Given the description of an element on the screen output the (x, y) to click on. 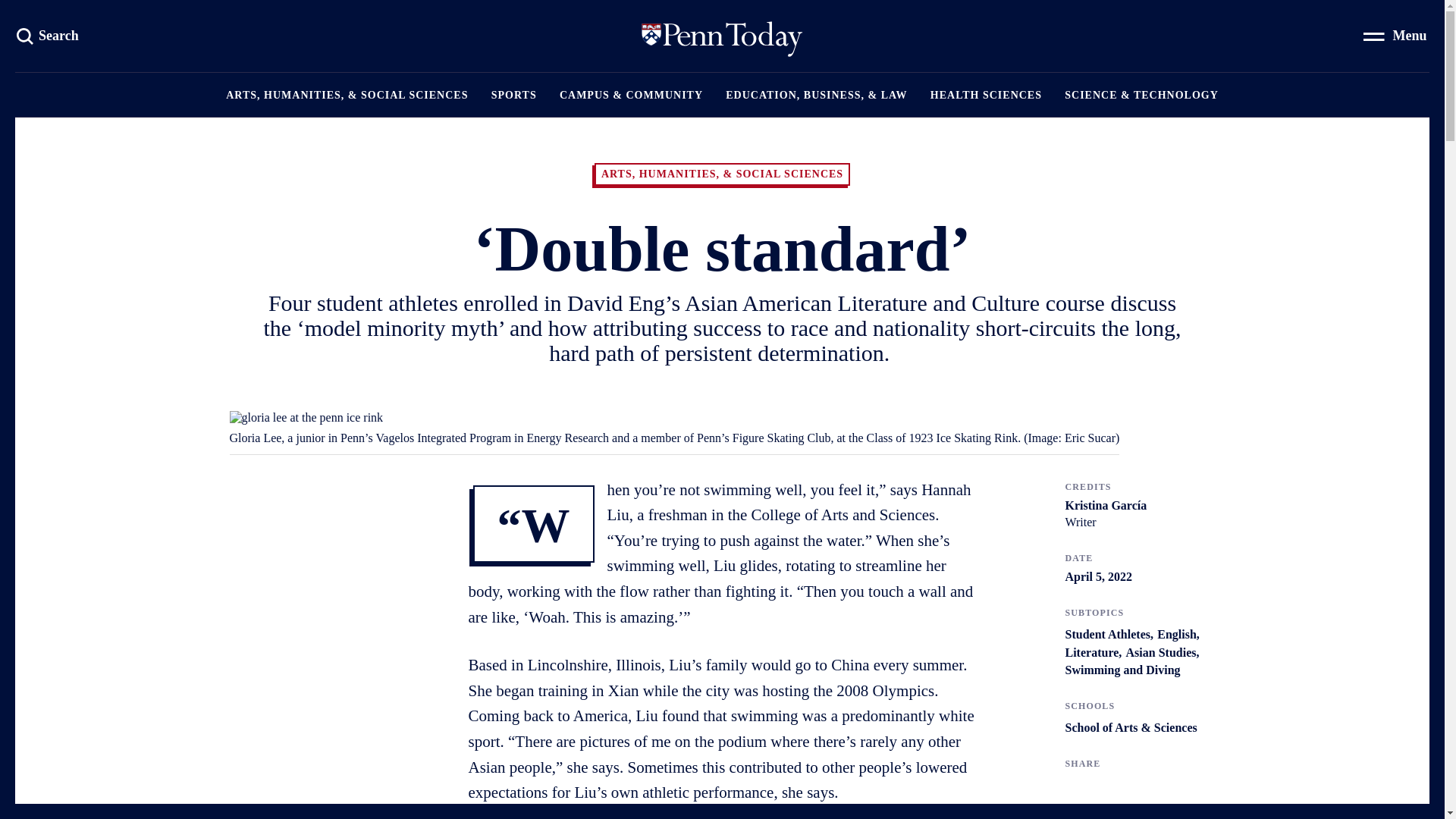
SPORTS (514, 95)
HEALTH SCIENCES (986, 95)
Share - Twitter (1070, 789)
Share - LinkedIn (1131, 789)
SKIP TO MAIN CONTENT (168, 20)
Share - Facebook (1101, 789)
Search (48, 35)
Penn Today Logo (48, 35)
